Given the description of an element on the screen output the (x, y) to click on. 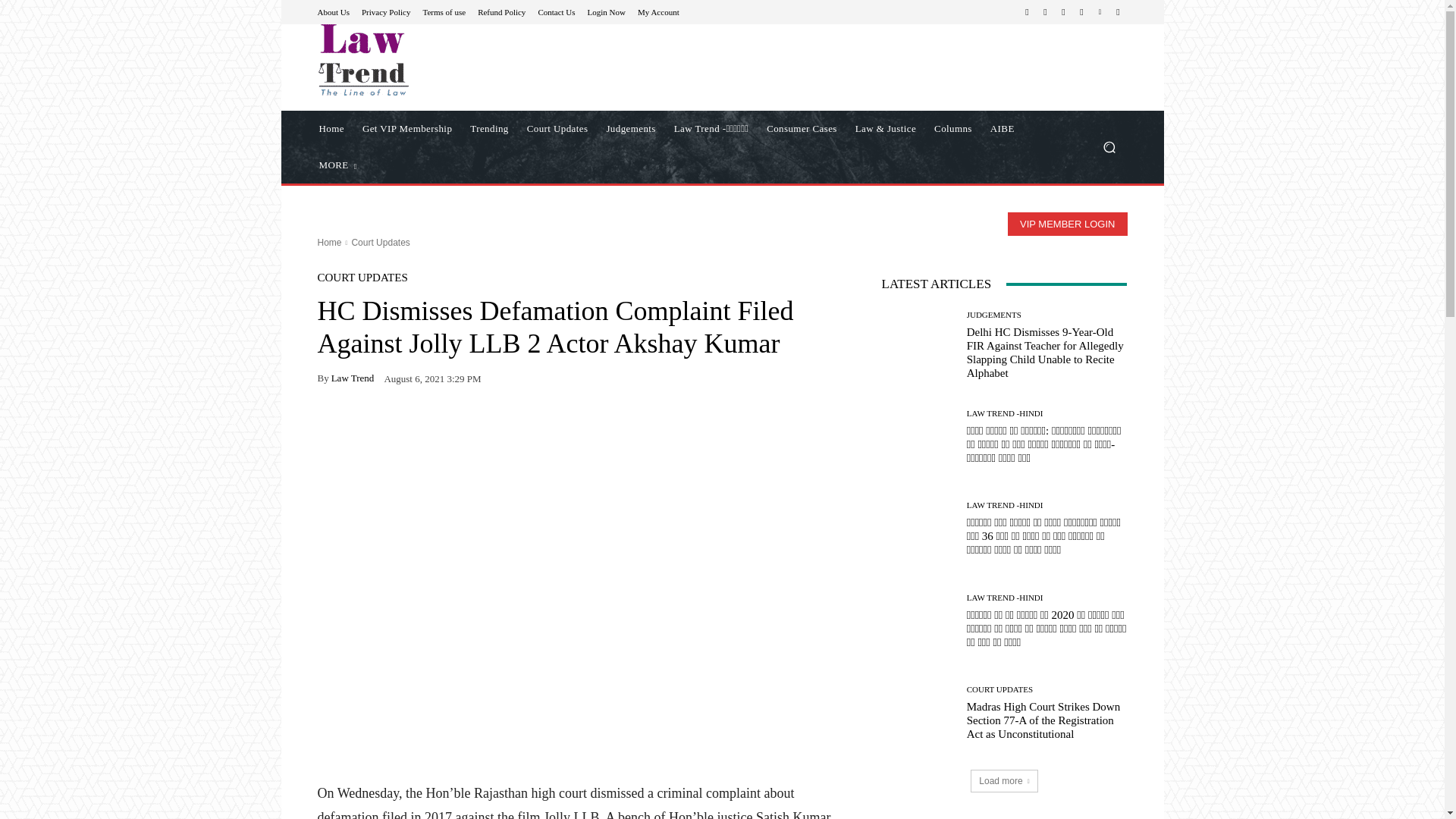
Law Trend- Legal News Website (362, 59)
Refund Policy (501, 11)
Law Trend- Legal News Website (425, 59)
My Account (658, 11)
Login Now (607, 11)
About Us (333, 11)
Terms of use (443, 11)
Telegram (1062, 12)
Contact Us (556, 11)
Instagram (1044, 12)
Vimeo (1099, 12)
Facebook (1026, 12)
Youtube (1117, 12)
Twitter (1080, 12)
Privacy Policy (385, 11)
